Given the description of an element on the screen output the (x, y) to click on. 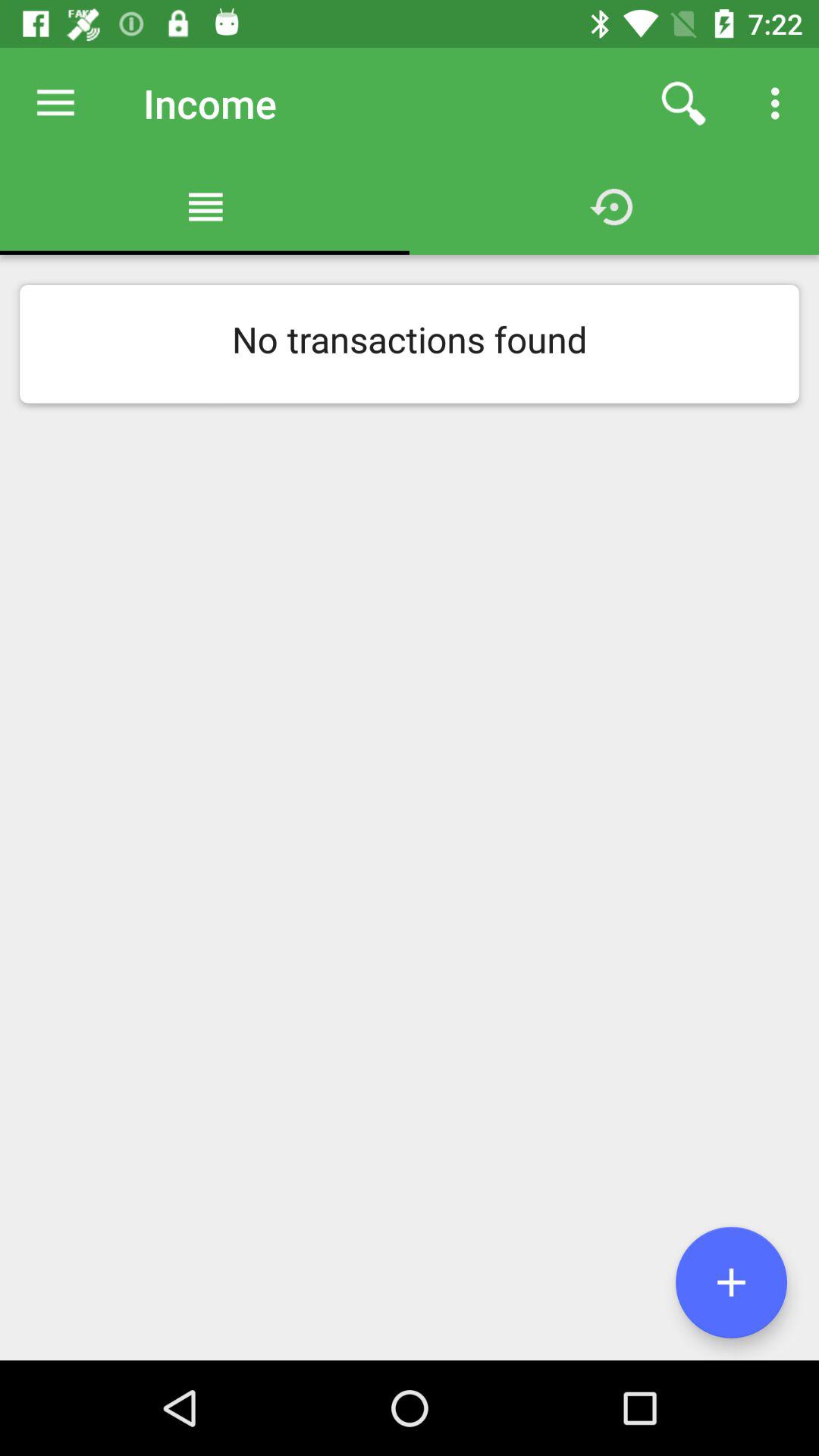
add more option (731, 1282)
